Given the description of an element on the screen output the (x, y) to click on. 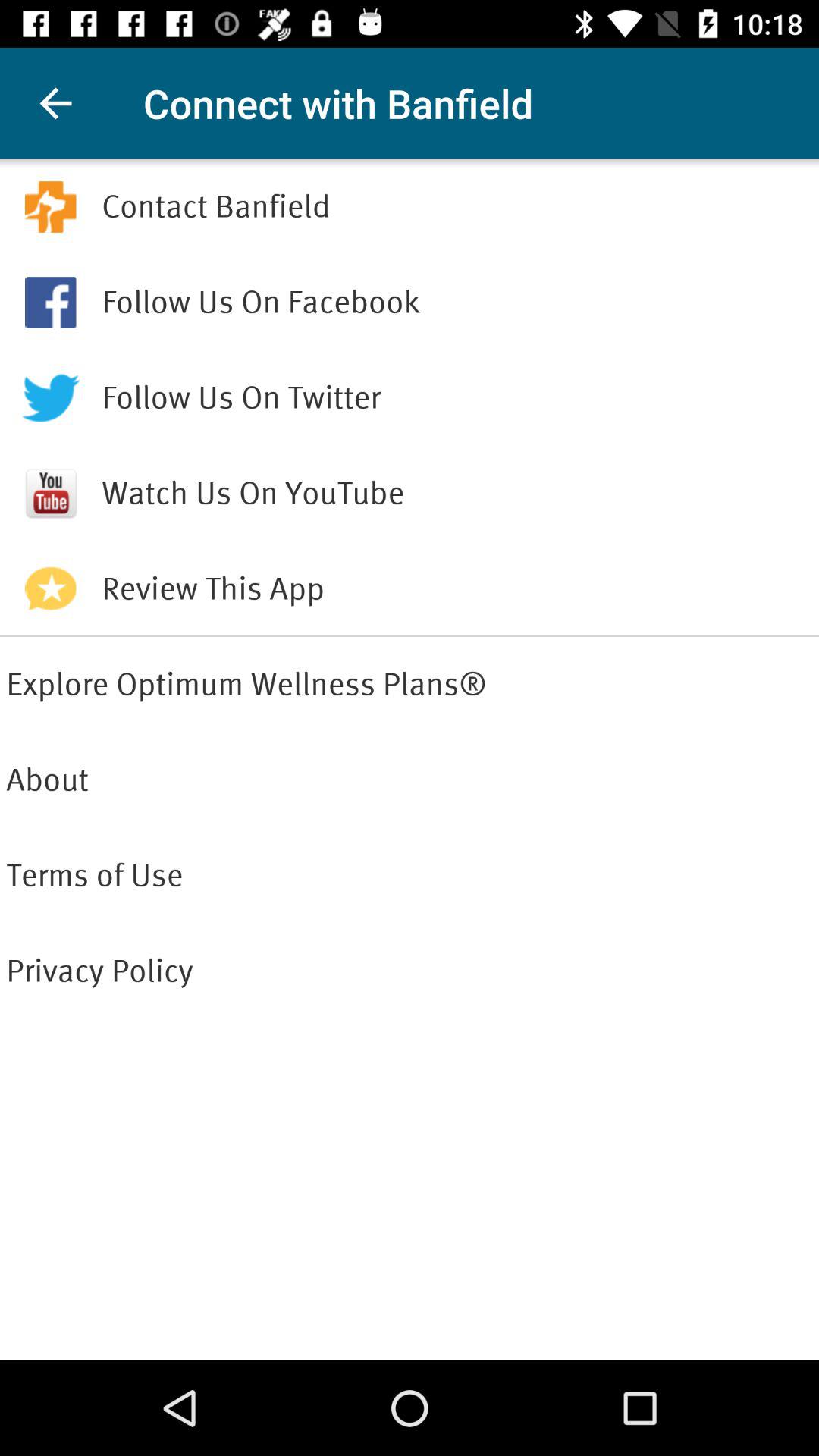
flip to privacy policy item (409, 971)
